Given the description of an element on the screen output the (x, y) to click on. 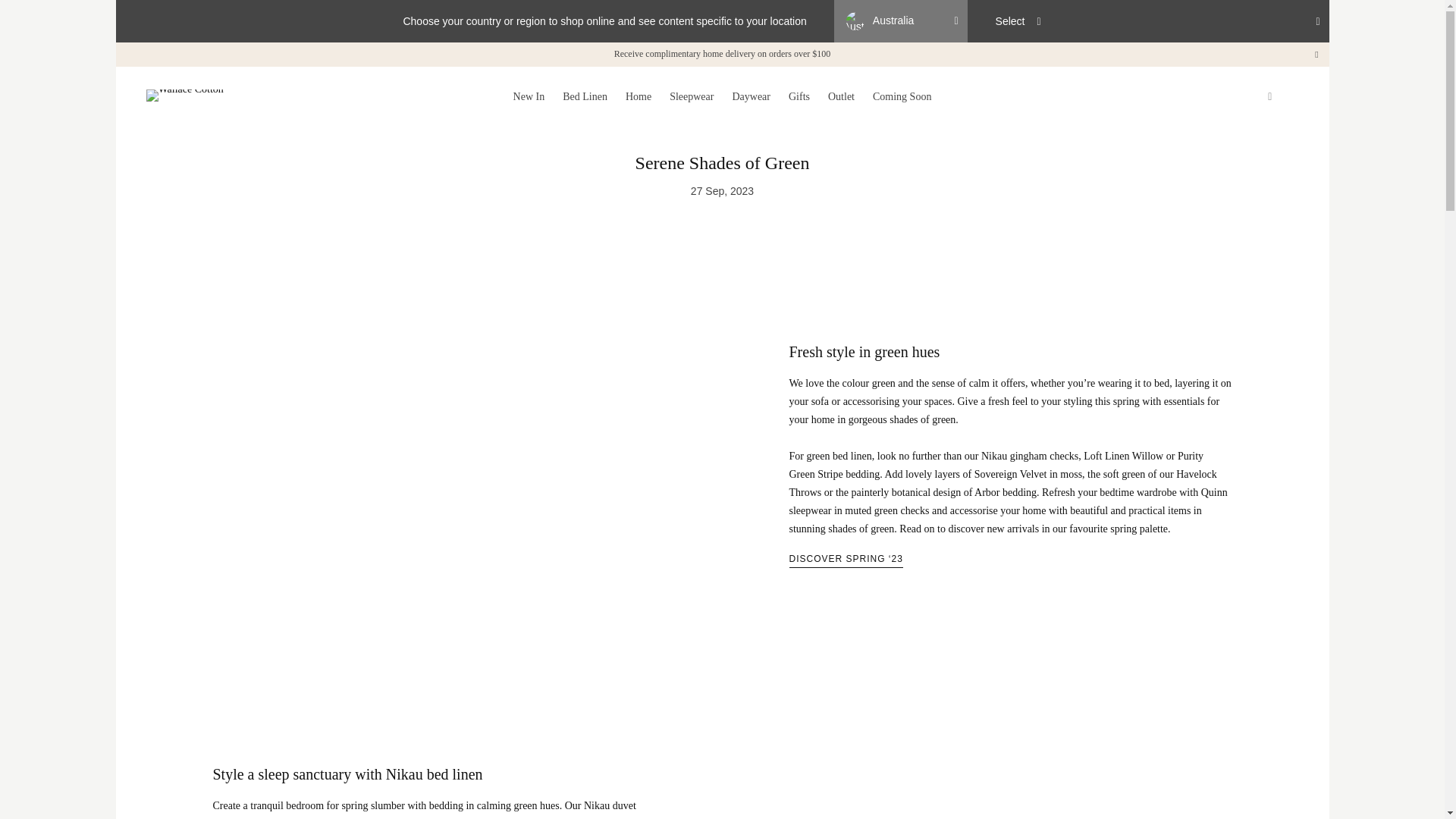
Australia (901, 21)
Bed Linen (584, 96)
Select (1018, 20)
